Given the description of an element on the screen output the (x, y) to click on. 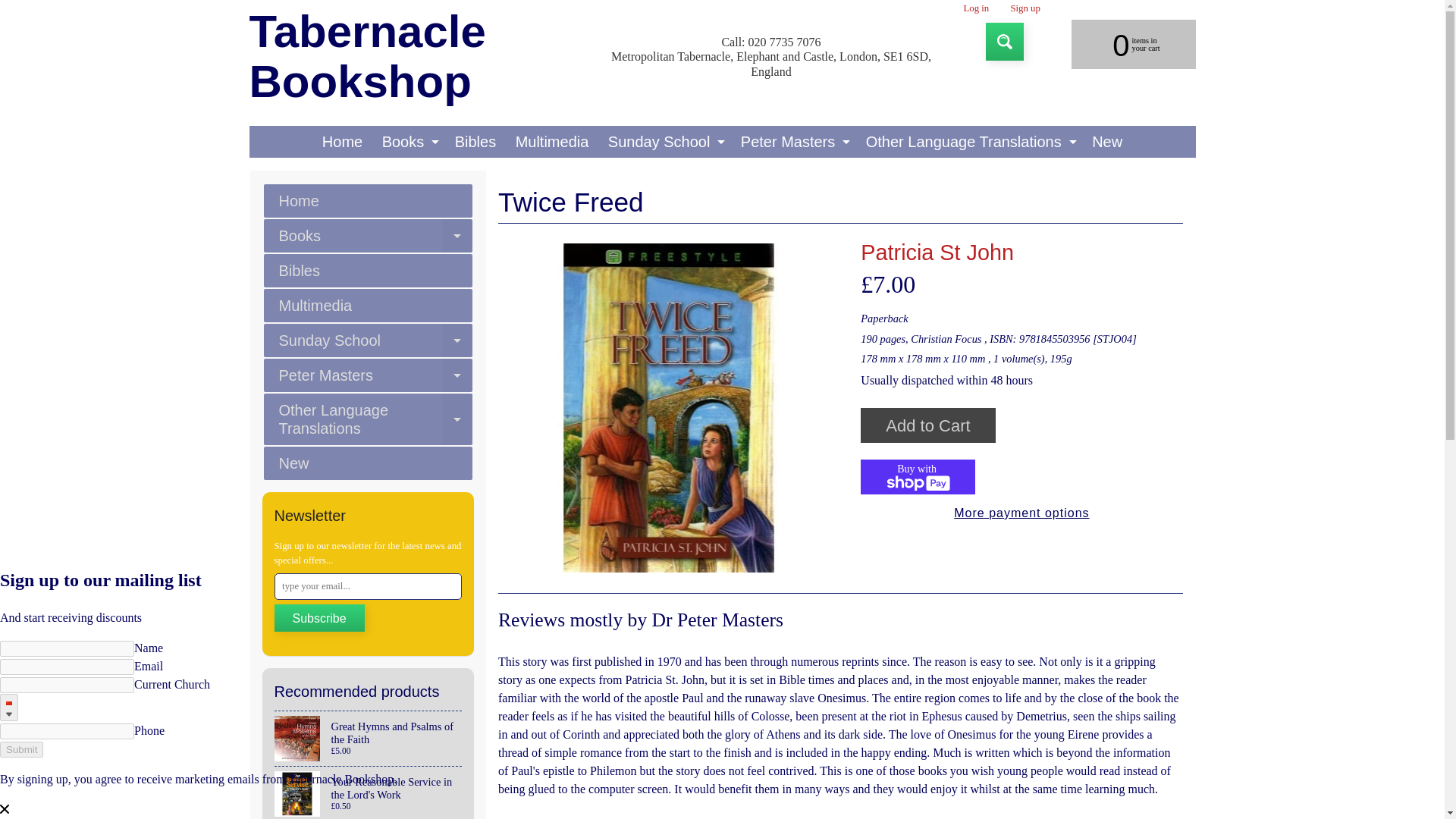
Patricia St John (936, 252)
Tabernacle Bookshop (422, 56)
Tabernacle Bookshop (422, 56)
Search (1004, 41)
Great Hymns and Psalms of the Faith (369, 738)
Your Reasonable Service in the Lord's Work (369, 792)
Log in (409, 141)
Home (975, 8)
Search (341, 141)
Sign up (1122, 43)
